Given the description of an element on the screen output the (x, y) to click on. 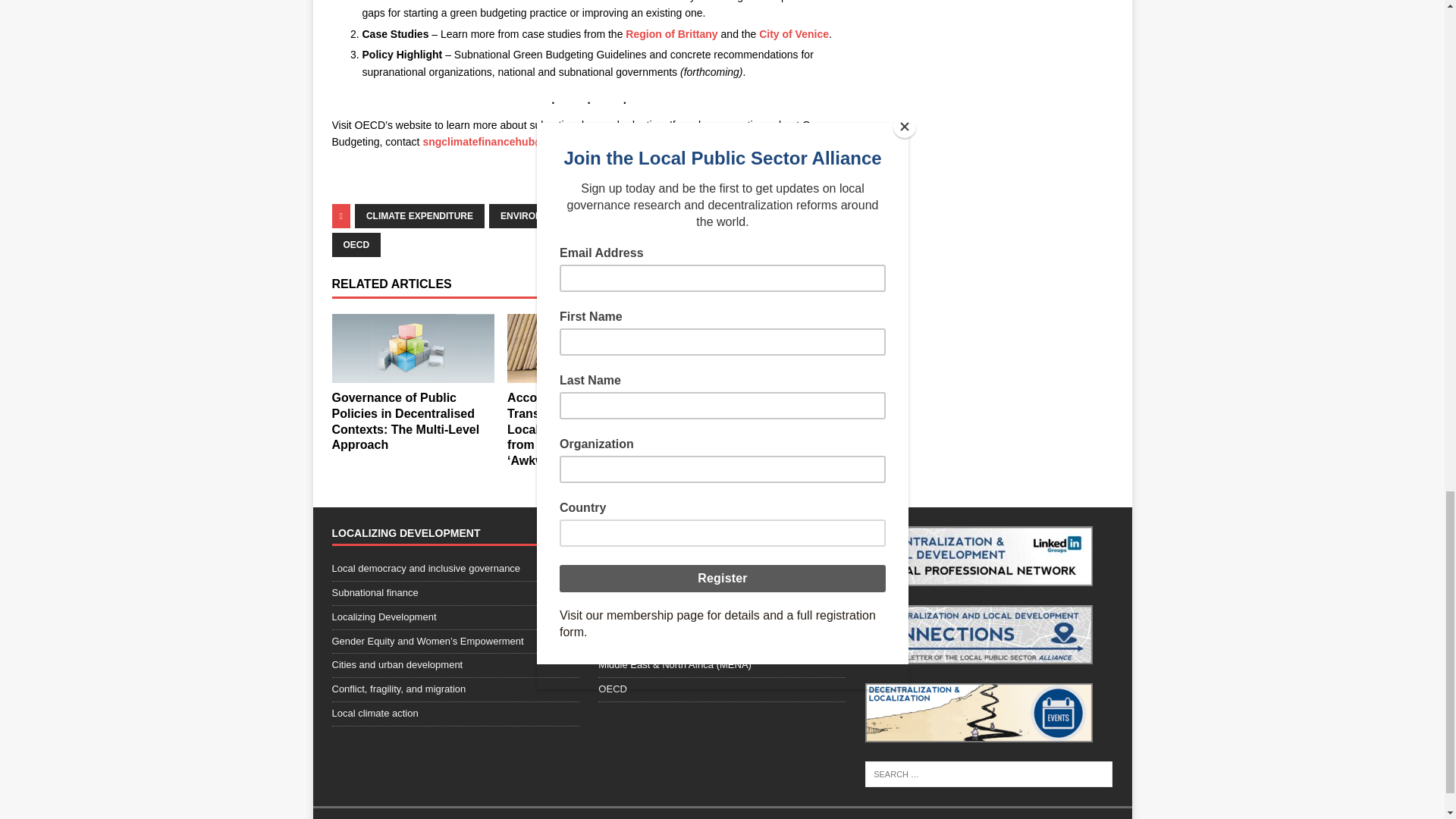
The Four Deficits of the English Devolution Process (763, 399)
The Four Deficits of the English Devolution Process (763, 345)
